Given the description of an element on the screen output the (x, y) to click on. 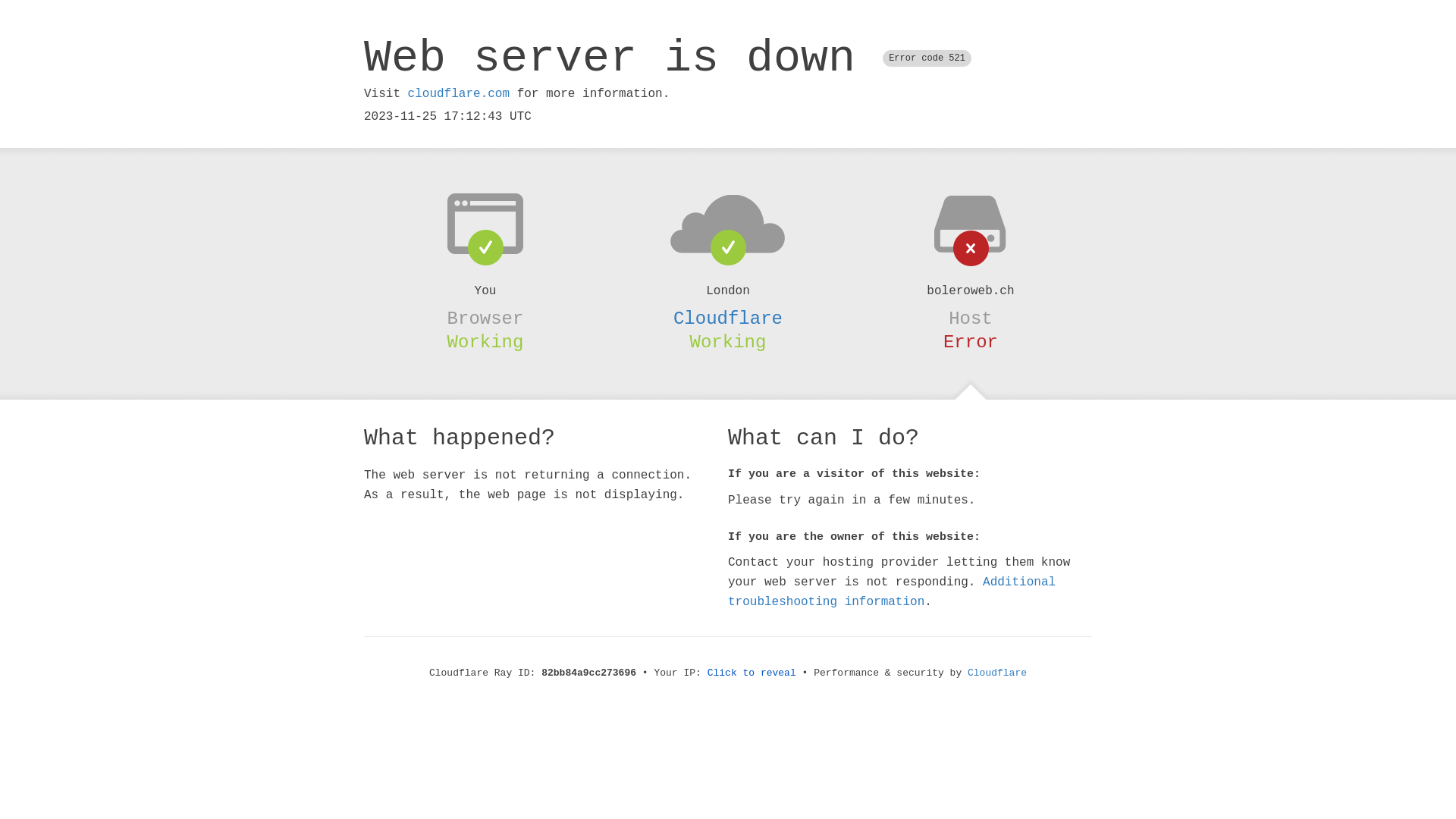
Additional troubleshooting information Element type: text (891, 591)
Cloudflare Element type: text (727, 318)
Click to reveal Element type: text (751, 672)
cloudflare.com Element type: text (458, 93)
Cloudflare Element type: text (996, 672)
